Given the description of an element on the screen output the (x, y) to click on. 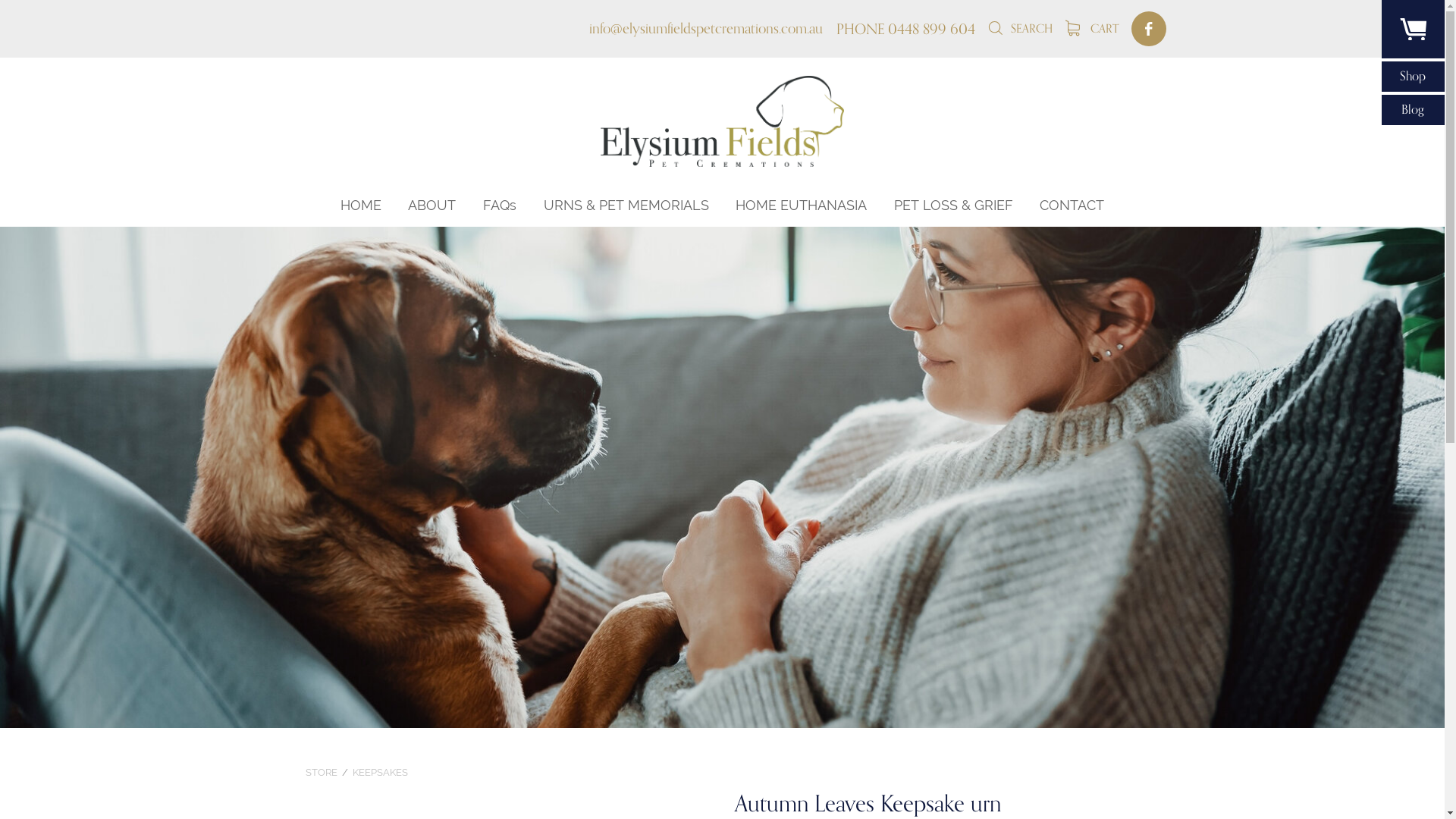
A link to this website's Facebook. Element type: hover (1148, 28)
URNS & PET MEMORIALS Element type: text (626, 206)
CONTACT Element type: text (1072, 206)
HOME Element type: text (360, 206)
ABOUT Element type: text (431, 206)
info@elysiumfieldspetcremations.com.au Element type: text (705, 28)
SEARCH Element type: text (1019, 28)
CART Element type: text (1091, 28)
FAQs Element type: text (499, 206)
Shop Element type: text (1412, 76)
PET LOSS & GRIEF Element type: text (953, 206)
Blog Element type: text (1412, 109)
STORE Element type: text (321, 772)
KEEPSAKES Element type: text (379, 772)
HOME EUTHANASIA Element type: text (800, 206)
